Given the description of an element on the screen output the (x, y) to click on. 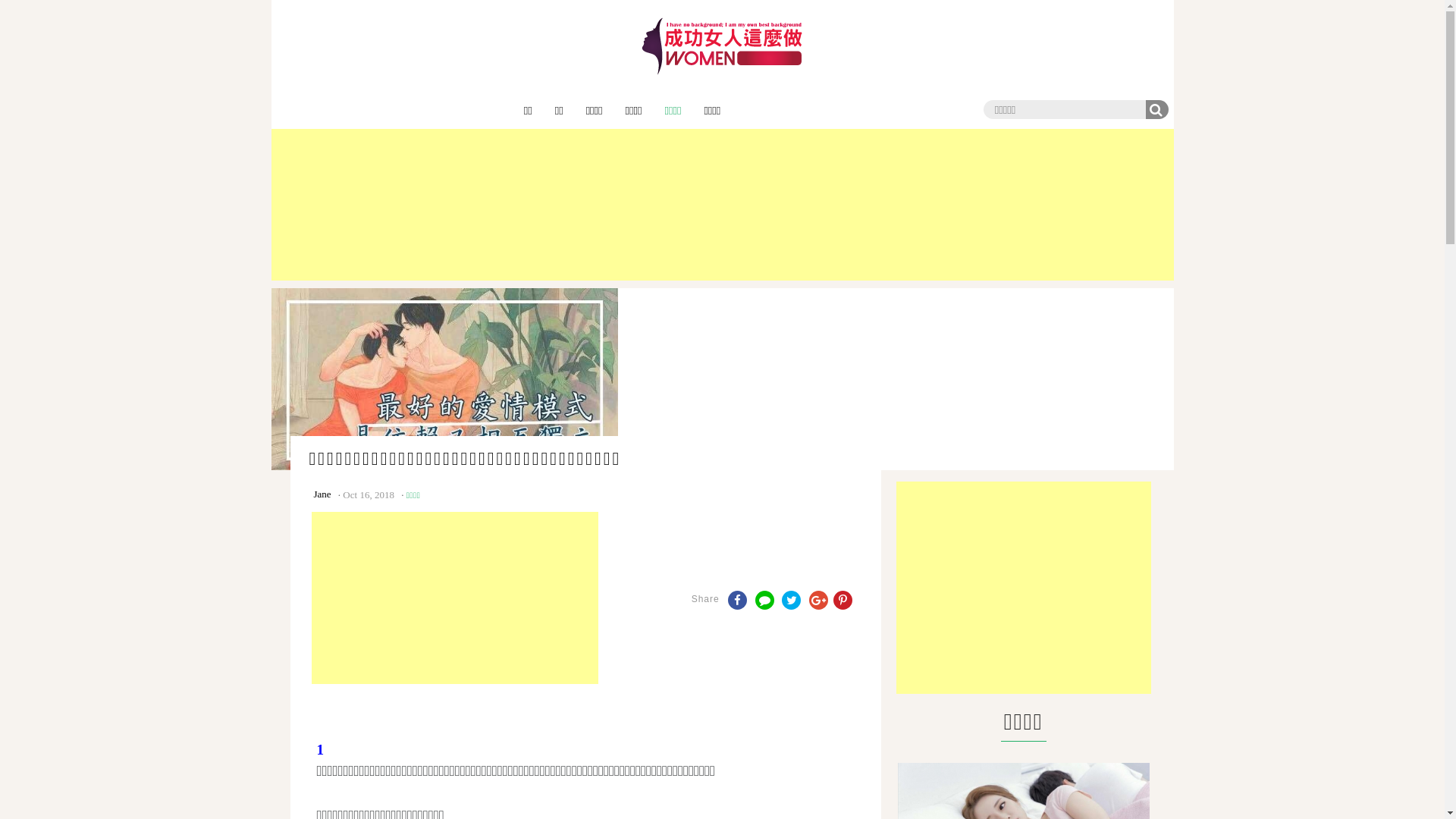
Advertisement Element type: hover (1023, 587)
Advertisement Element type: hover (722, 204)
Advertisement Element type: hover (454, 597)
